Given the description of an element on the screen output the (x, y) to click on. 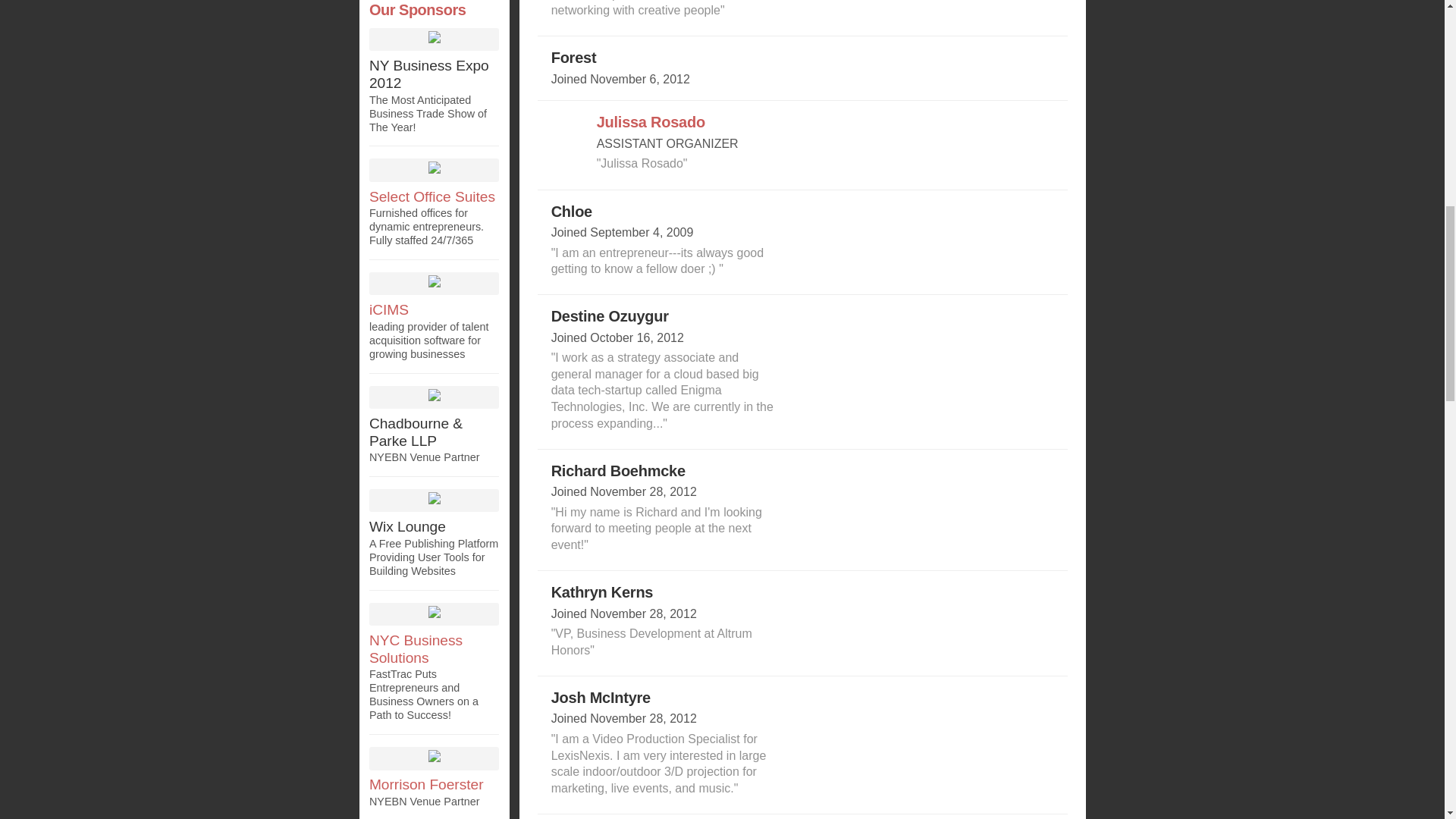
Julissa Rosado (650, 121)
